Given the description of an element on the screen output the (x, y) to click on. 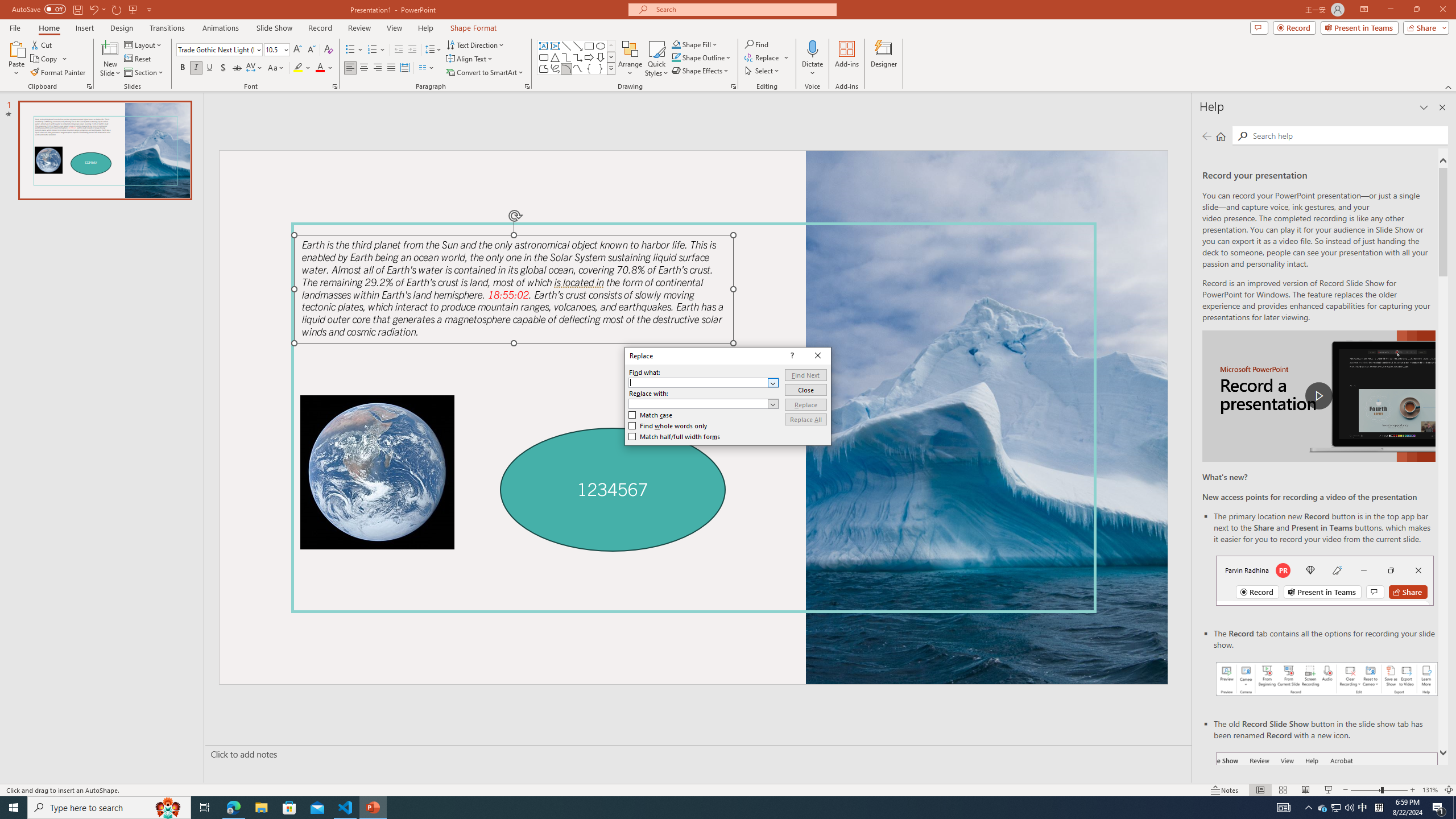
Shadow (223, 67)
Italic (195, 67)
Rectangle: Rounded Corners (543, 57)
Font... (334, 85)
